Given the description of an element on the screen output the (x, y) to click on. 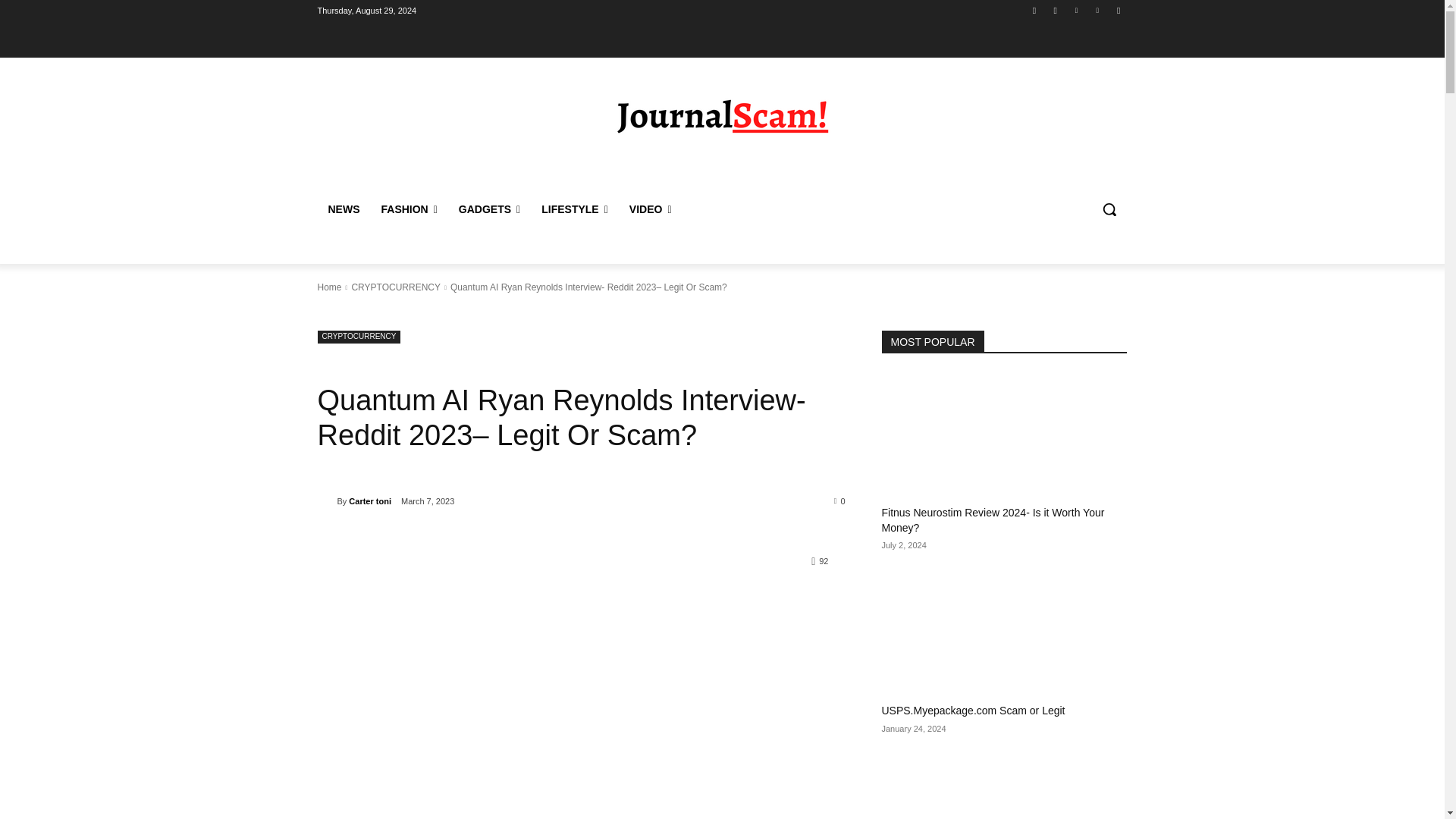
NEWS (343, 208)
Youtube (1117, 9)
Twitter (1075, 9)
FASHION (407, 208)
Instagram (1055, 9)
Facebook (1034, 9)
Vimeo (1097, 9)
